Given the description of an element on the screen output the (x, y) to click on. 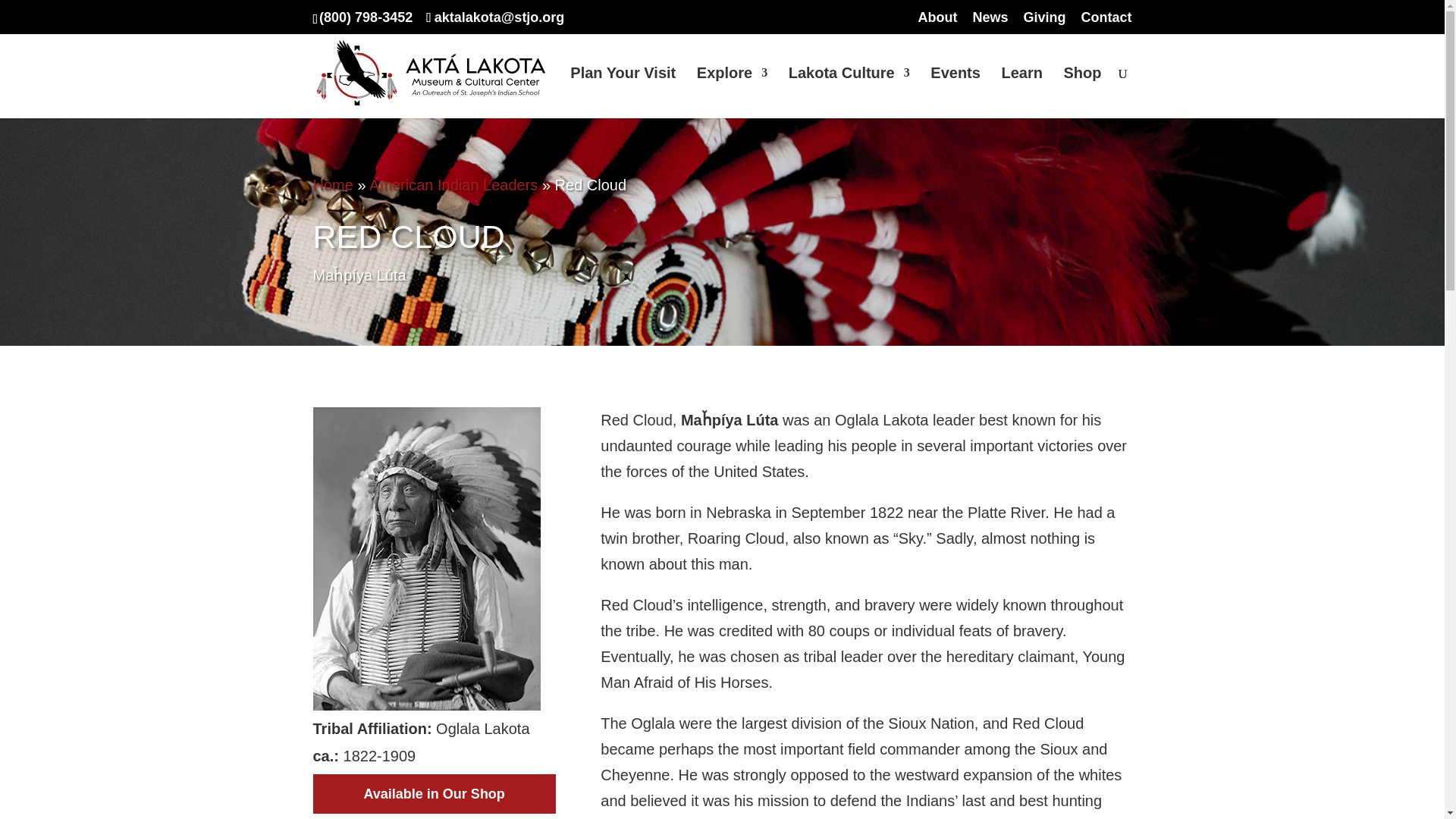
Explore (732, 88)
Giving (1044, 22)
News (989, 22)
Red Cloud (426, 704)
Lakota Culture (849, 88)
Contact (1106, 22)
Events (954, 88)
Plan Your Visit (622, 88)
About (936, 22)
Learn (1021, 88)
